Given the description of an element on the screen output the (x, y) to click on. 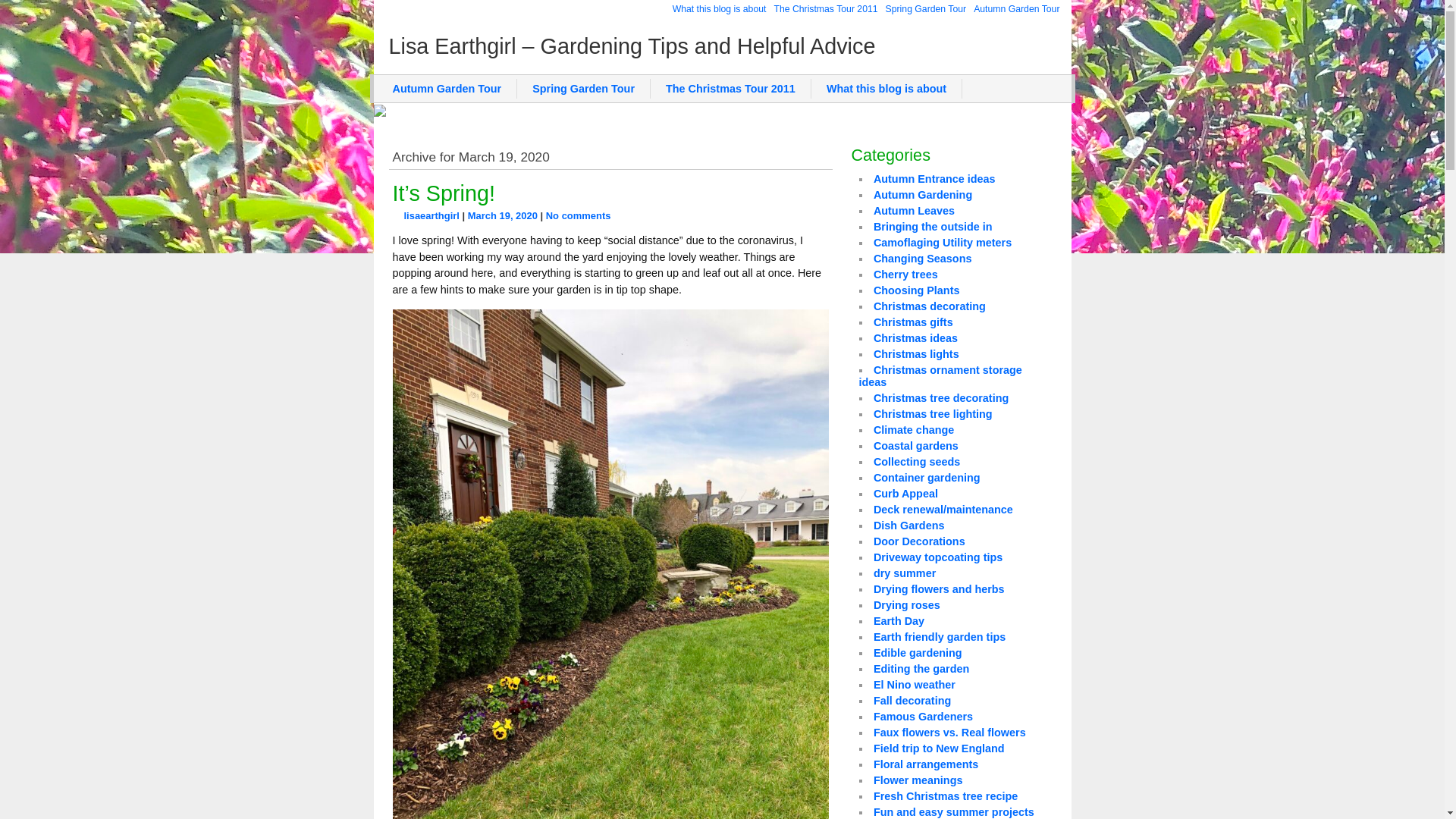
lisaearthgirl (430, 215)
Autumn Garden Tour (447, 88)
Spring Garden Tour (583, 88)
Christmas lights (916, 354)
Christmas ideas (915, 337)
Camoflaging Utility meters (942, 242)
Autumn Leaves (914, 210)
The Christmas Tour 2011 (825, 9)
What this blog is about (719, 9)
Choosing Plants (916, 290)
